Given the description of an element on the screen output the (x, y) to click on. 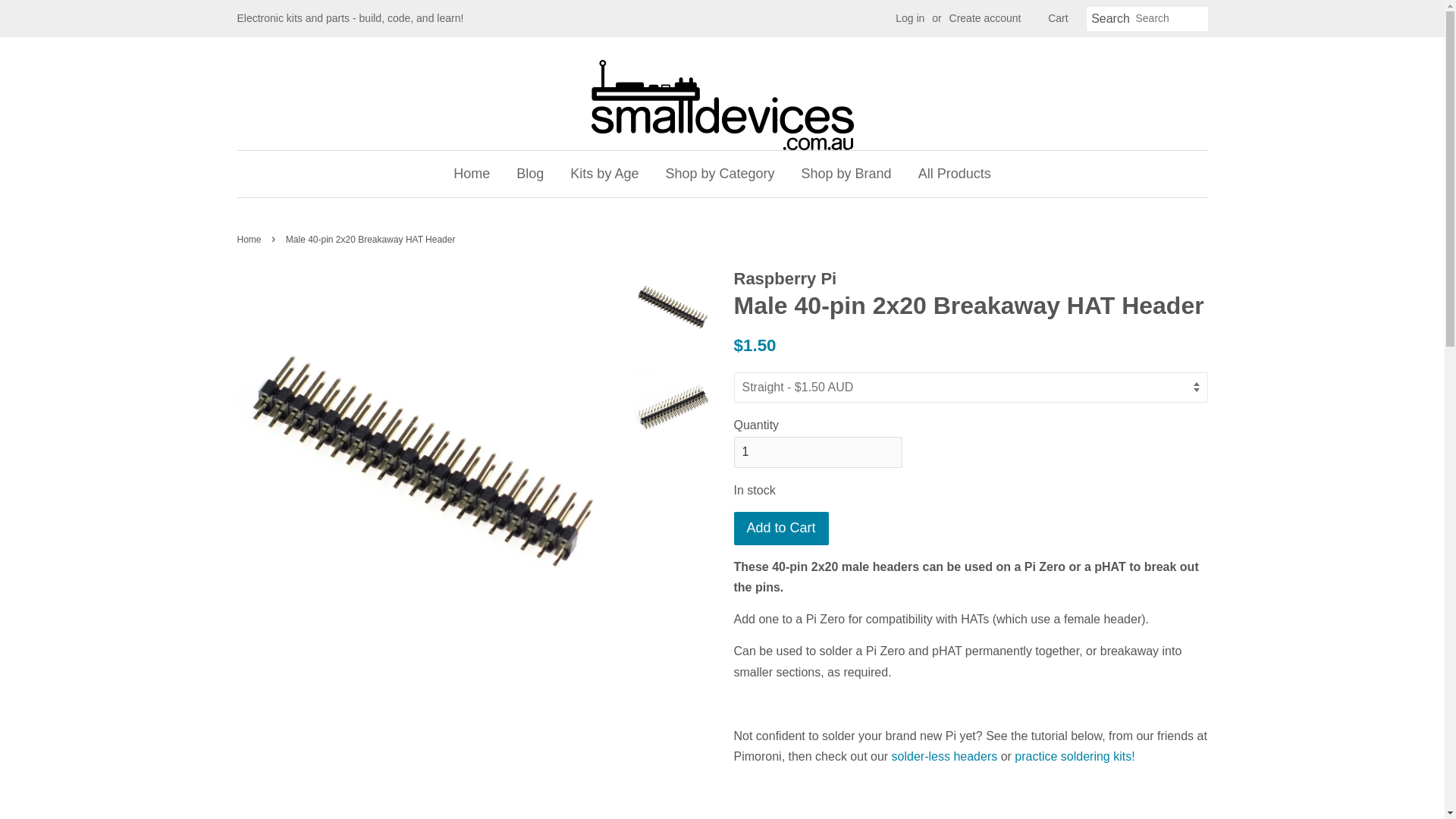
Search (1110, 18)
Log in (909, 18)
Cart (1057, 18)
Create account (985, 18)
Back to the frontpage (249, 239)
1 (817, 451)
